Given the description of an element on the screen output the (x, y) to click on. 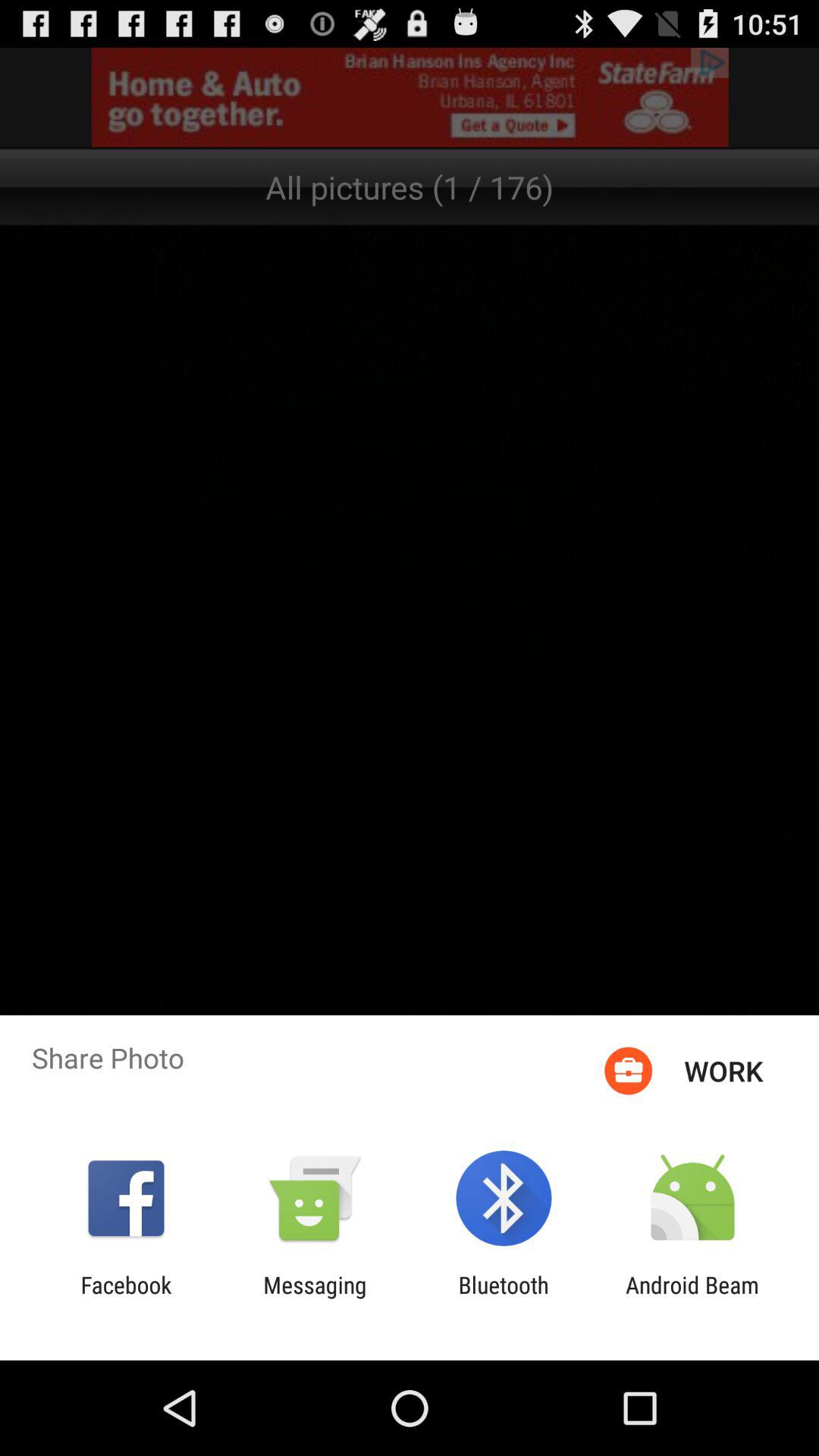
press the app next to messaging app (503, 1298)
